Given the description of an element on the screen output the (x, y) to click on. 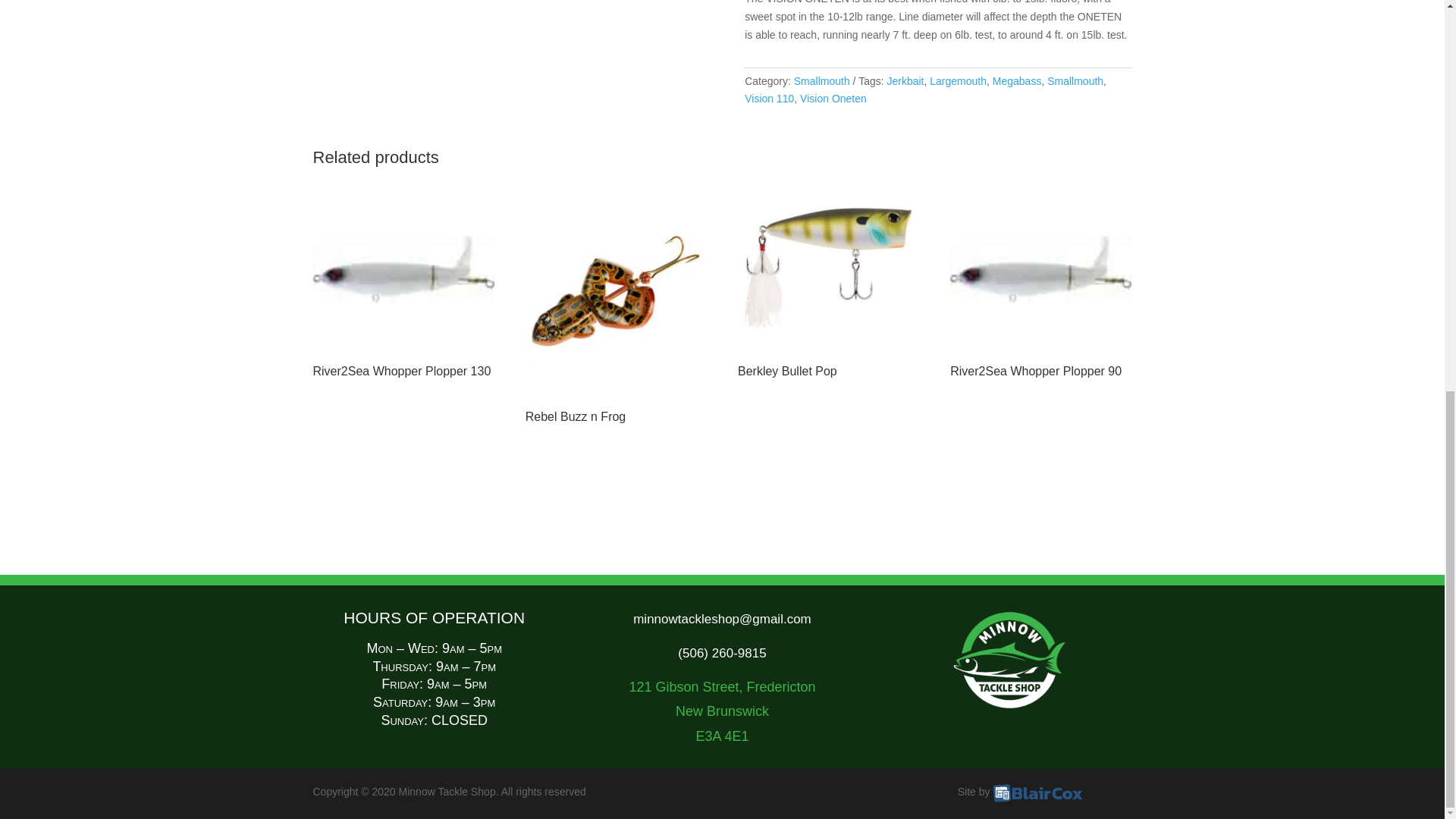
Jerkbait (904, 80)
Header-Logo (1010, 659)
Vision 110 (768, 98)
Smallmouth (821, 80)
Rebel Buzz n Frog (615, 303)
Largemouth (958, 80)
Megabass (1017, 80)
River2Sea Whopper Plopper 130 (403, 281)
Vision Oneten (832, 98)
Smallmouth (1074, 80)
